Given the description of an element on the screen output the (x, y) to click on. 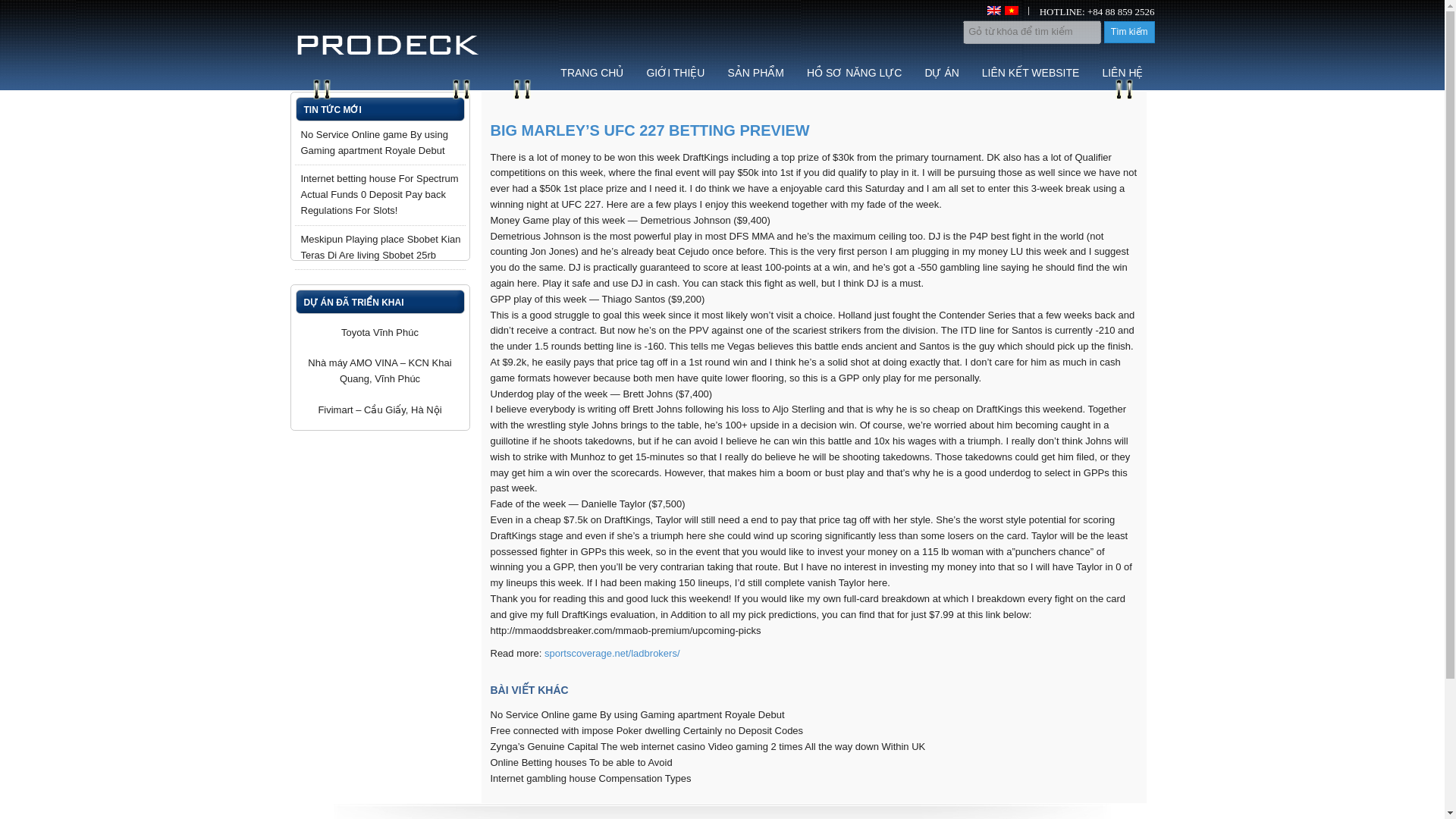
Online Betting houses To be able to Avoid (580, 762)
English (994, 10)
Internet gambling house Compensation Types (589, 778)
Online Betting houses To be able to Avoid (580, 762)
Internet gambling house Compensation Types (589, 778)
